Given the description of an element on the screen output the (x, y) to click on. 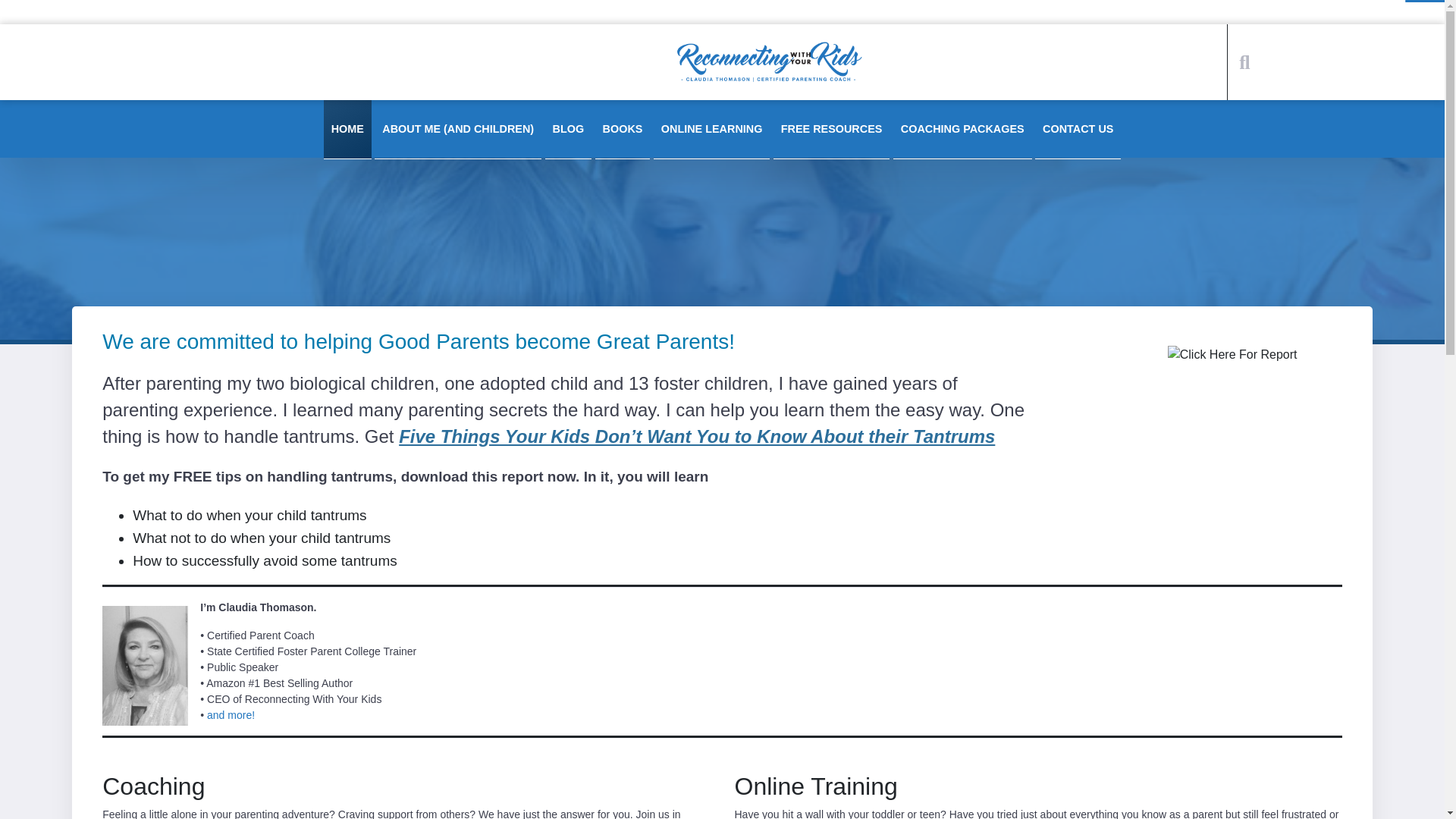
CONTACT US (1078, 128)
FREE RESOURCES (831, 128)
COACHING PACKAGES (962, 128)
and more! (230, 715)
ONLINE LEARNING (711, 128)
BOOKS (622, 128)
